Given the description of an element on the screen output the (x, y) to click on. 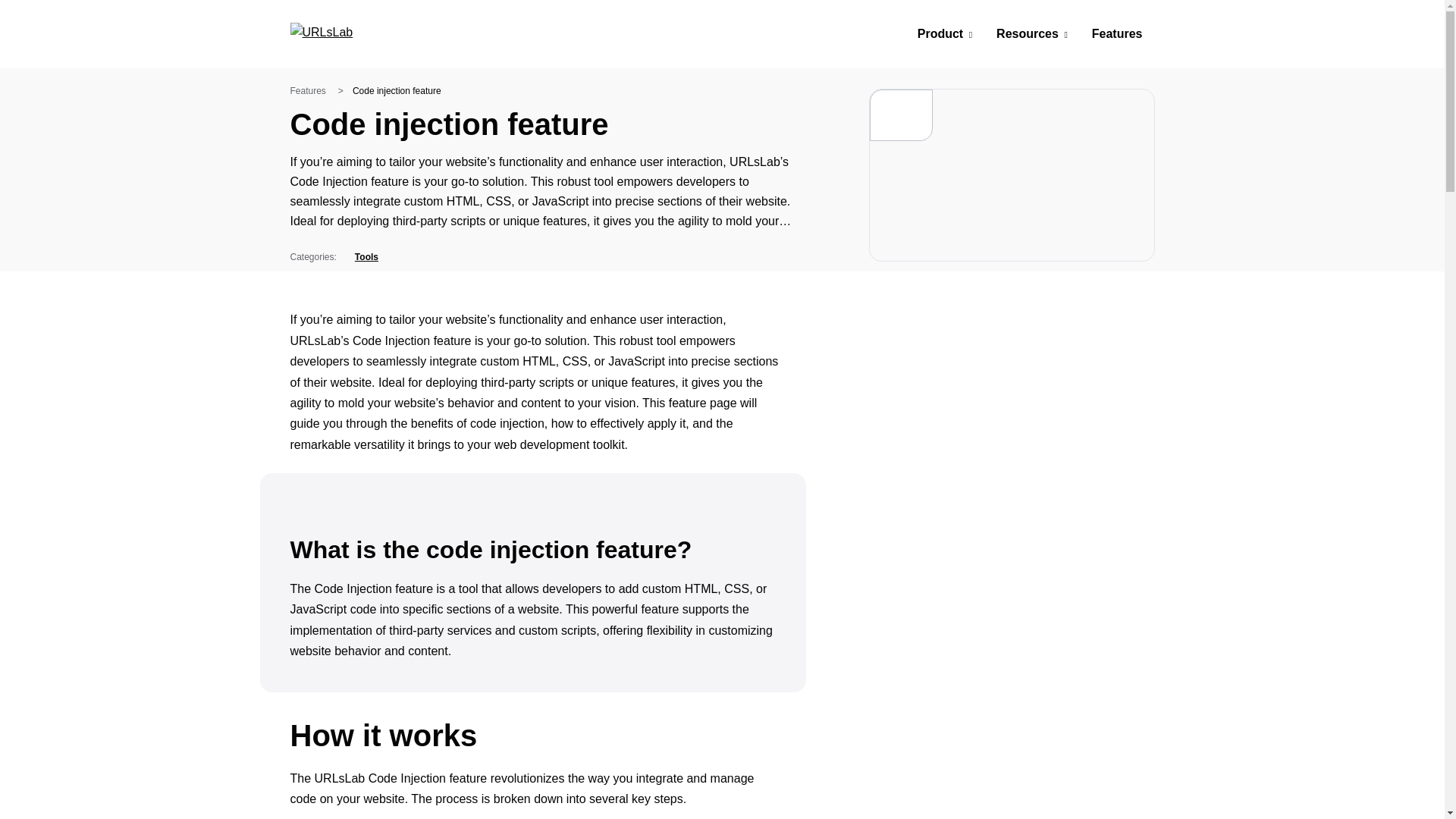
Resources (1031, 34)
Features (1117, 34)
Tools (360, 256)
Product (944, 34)
Tools (360, 256)
Features (306, 90)
